Given the description of an element on the screen output the (x, y) to click on. 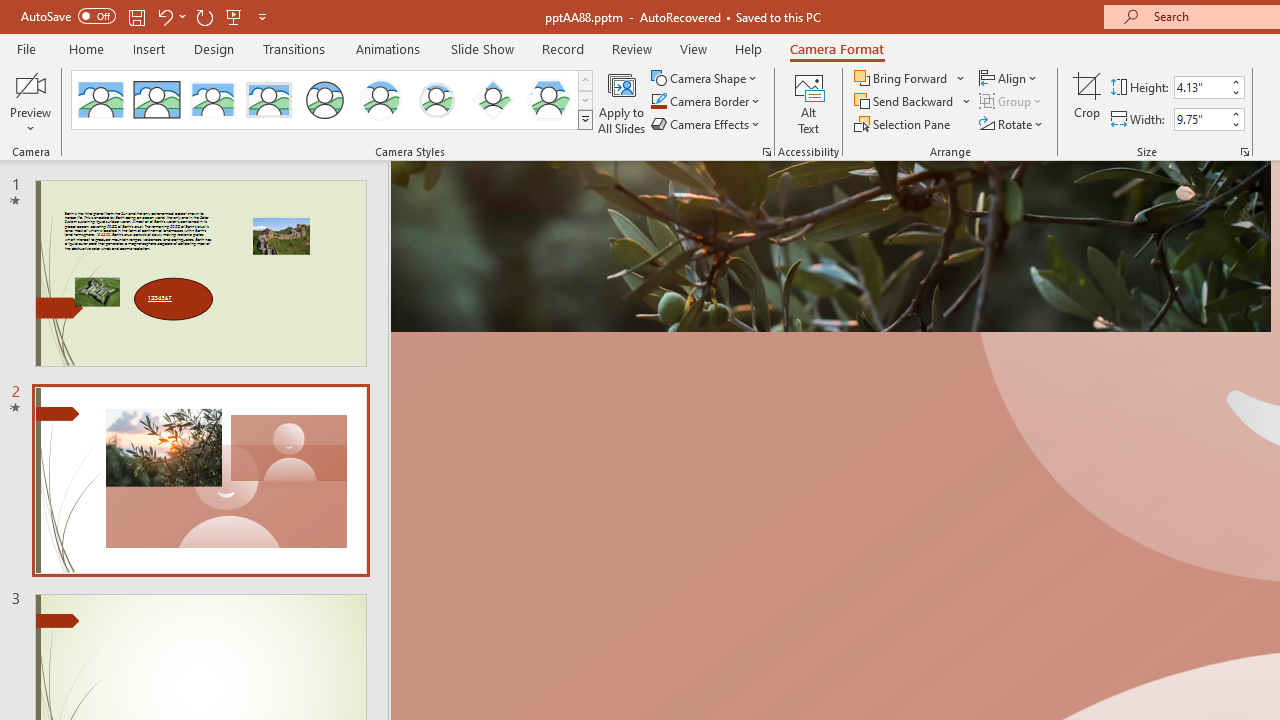
Camera Styles (585, 120)
